Given the description of an element on the screen output the (x, y) to click on. 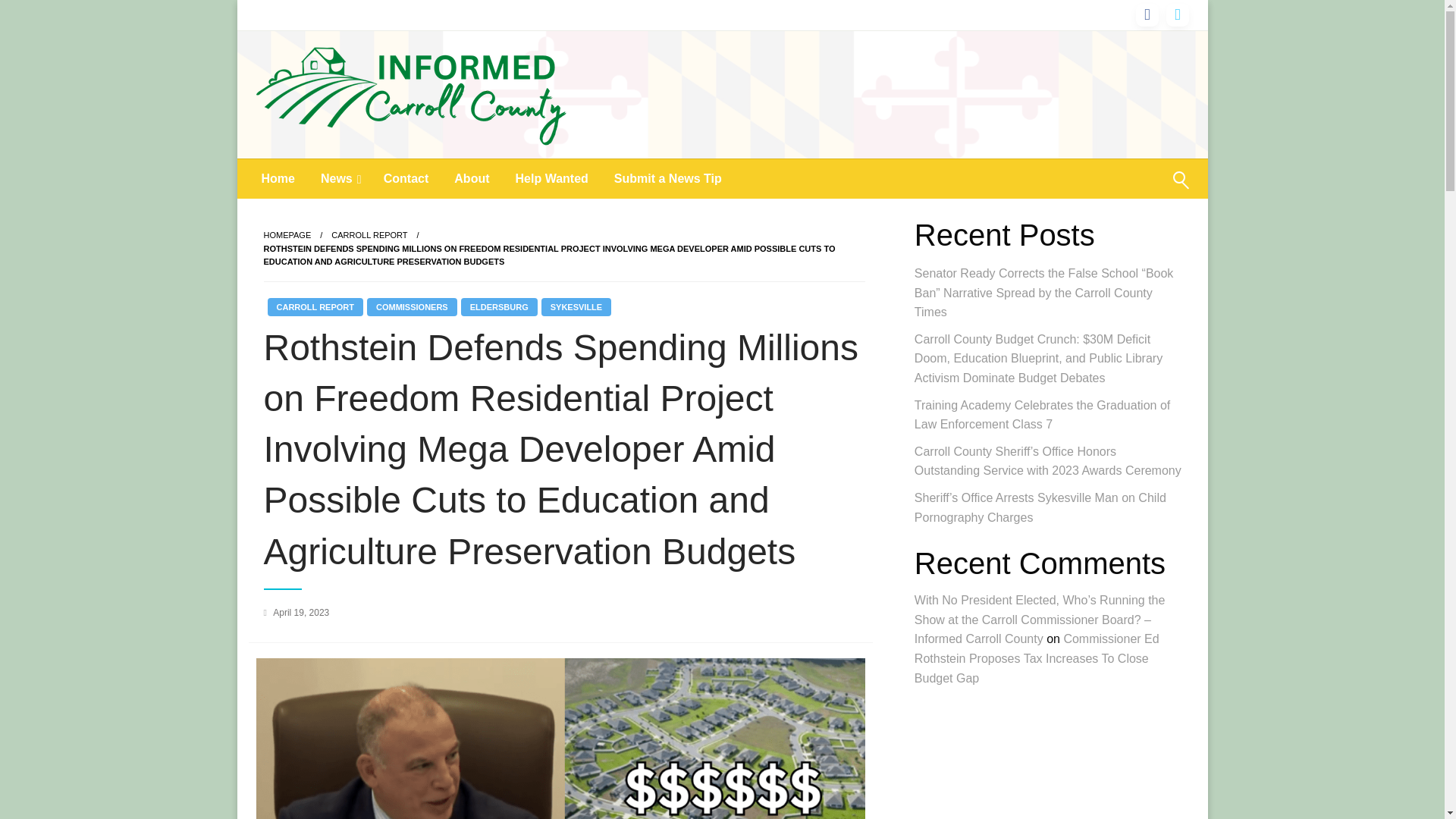
About (471, 178)
Home (277, 178)
Search (1144, 189)
Contact (406, 178)
Submit a News Tip (668, 178)
Help Wanted (551, 178)
Homepage (287, 234)
News (339, 178)
Advertisement (1049, 760)
Informed Carroll County (417, 177)
Carroll Report (369, 234)
